Given the description of an element on the screen output the (x, y) to click on. 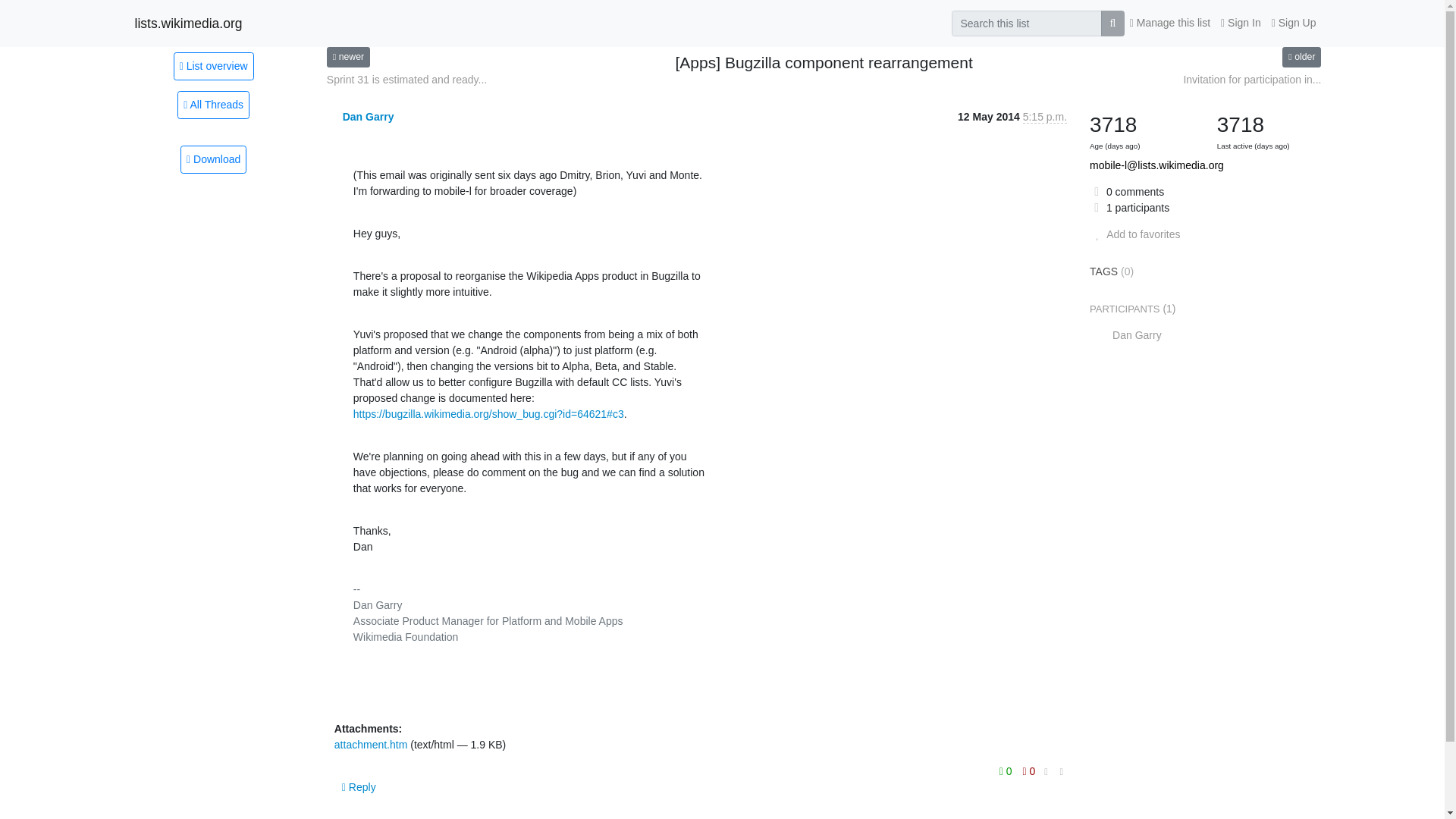
lists.wikimedia.org (189, 22)
Invitation for participation in... (1251, 79)
Sender's time: May 12, 2014, 10:15 a.m. (1045, 116)
Sign in to reply online (359, 786)
newer (347, 56)
Manage this list (1169, 22)
Sign Up (1294, 22)
You must be logged-in to have favorites. (1134, 234)
All Threads (212, 104)
Sign In (1240, 22)
This thread in gzipped mbox format (213, 159)
Download (213, 159)
You must be logged-in to vote. (1029, 771)
See the profile for Dan Garry (368, 116)
